Given the description of an element on the screen output the (x, y) to click on. 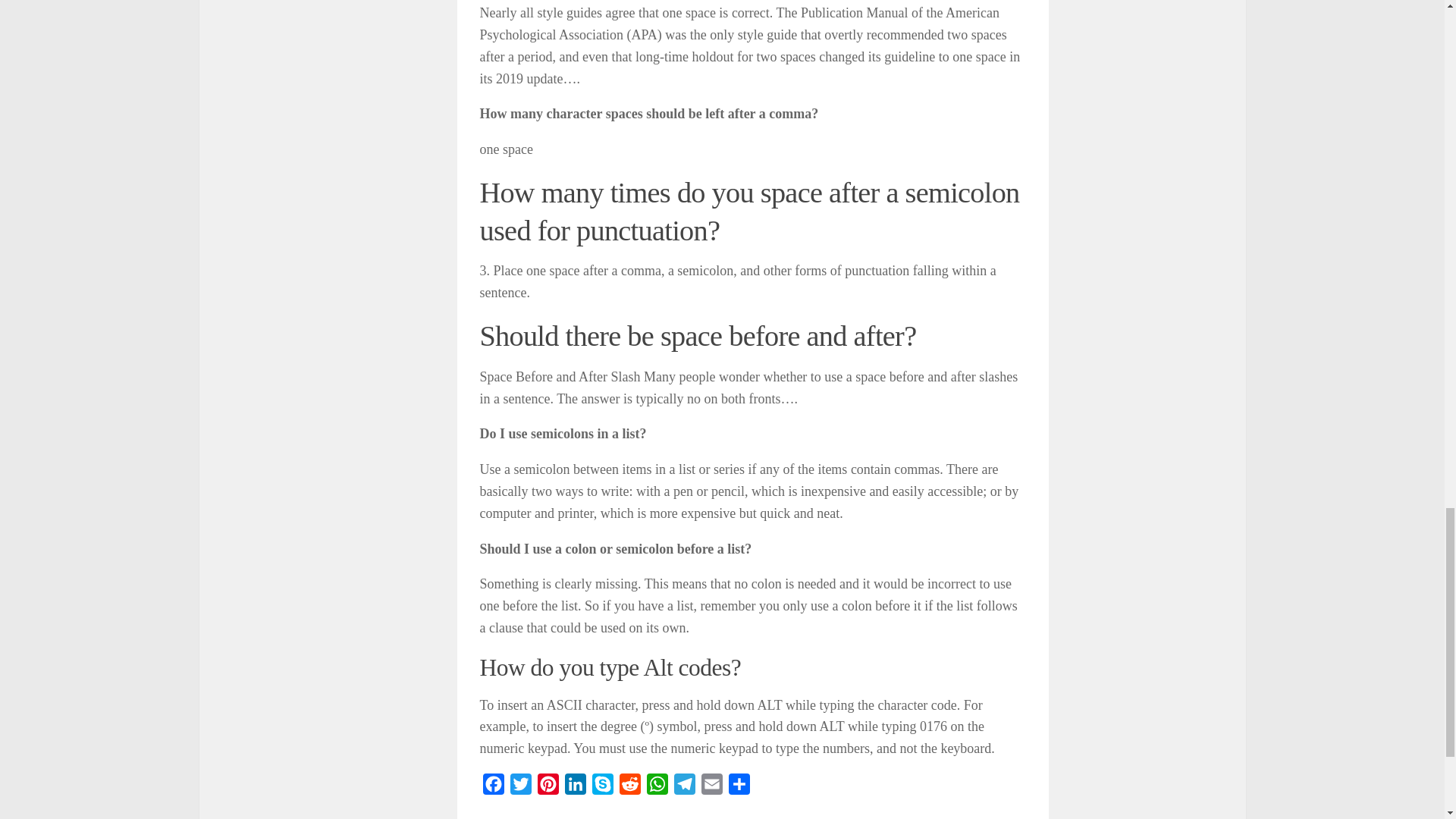
Facebook (492, 787)
LinkedIn (574, 787)
Twitter (520, 787)
WhatsApp (656, 787)
WhatsApp (656, 787)
Pinterest (547, 787)
Skype (601, 787)
Facebook (492, 787)
Telegram (683, 787)
Twitter (520, 787)
Telegram (683, 787)
LinkedIn (574, 787)
Reddit (629, 787)
Skype (601, 787)
Pinterest (547, 787)
